Given the description of an element on the screen output the (x, y) to click on. 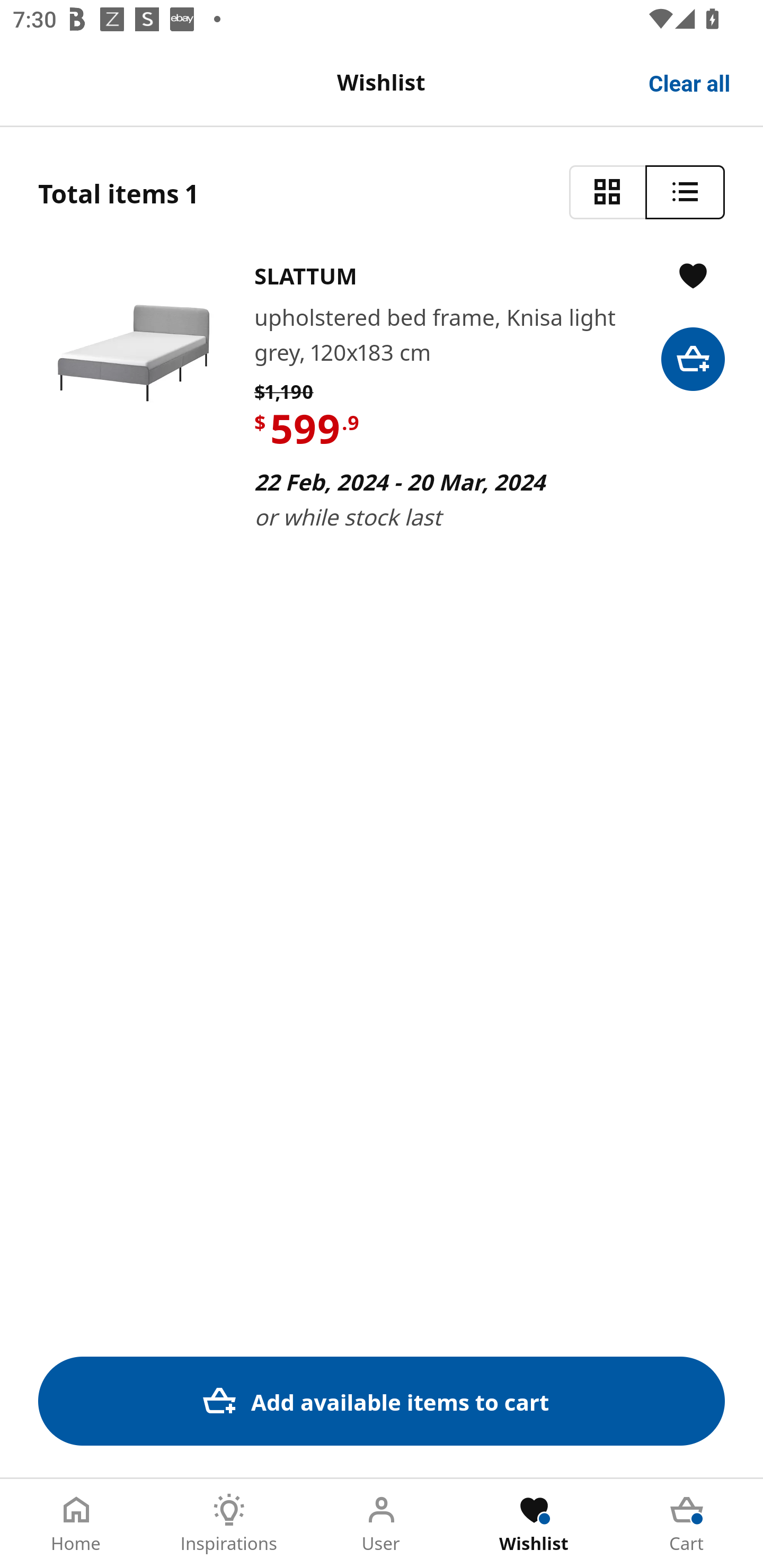
Clear all (689, 81)
Add available items to cart (381, 1400)
Home
Tab 1 of 5 (76, 1522)
Inspirations
Tab 2 of 5 (228, 1522)
User
Tab 3 of 5 (381, 1522)
Wishlist
Tab 4 of 5 (533, 1522)
Cart
Tab 5 of 5 (686, 1522)
